Given the description of an element on the screen output the (x, y) to click on. 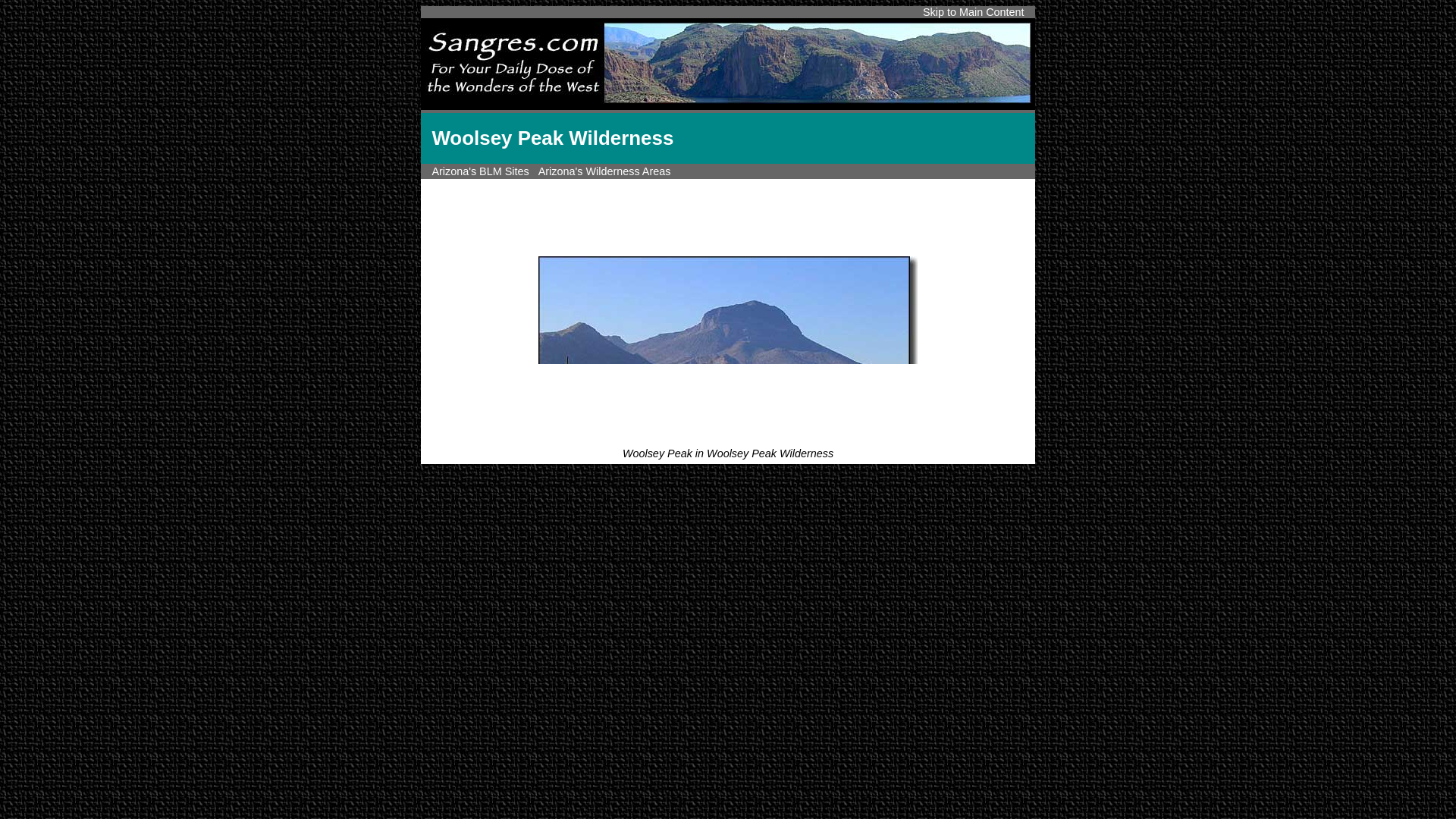
National Wilderness Areas in Arizona (604, 171)
Arizona's BLM Sites (479, 171)
Skip to Main Content (974, 11)
Bureau of Land Management Sites in Arizona (479, 171)
Arizona's Wilderness Areas (604, 171)
Woolsey Peak Wilderness (727, 349)
